Given the description of an element on the screen output the (x, y) to click on. 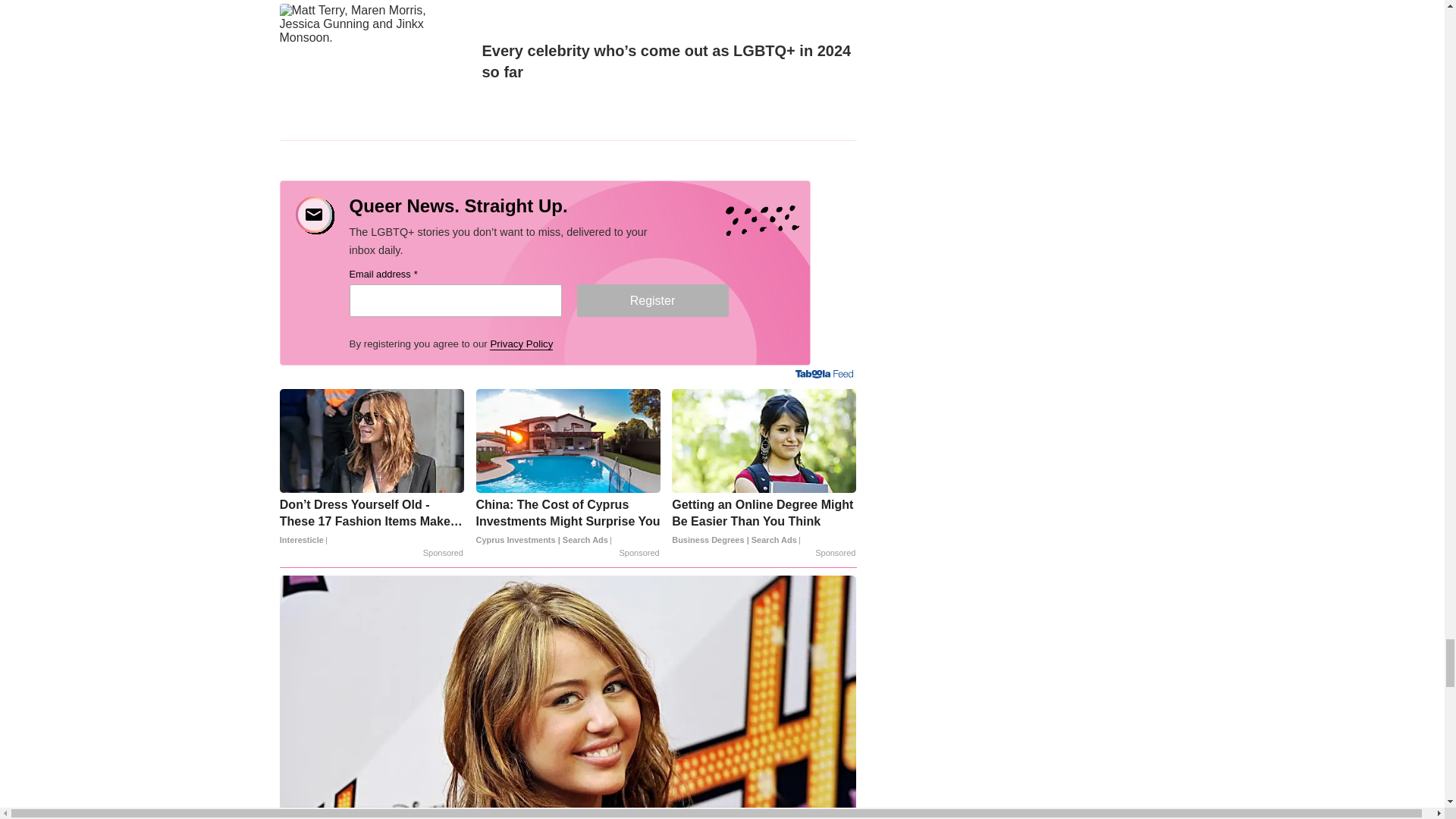
China: The Cost of Cyprus Investments Might Surprise You (568, 521)
Getting an Online Degree Might Be Easier Than You Think (763, 521)
